Given the description of an element on the screen output the (x, y) to click on. 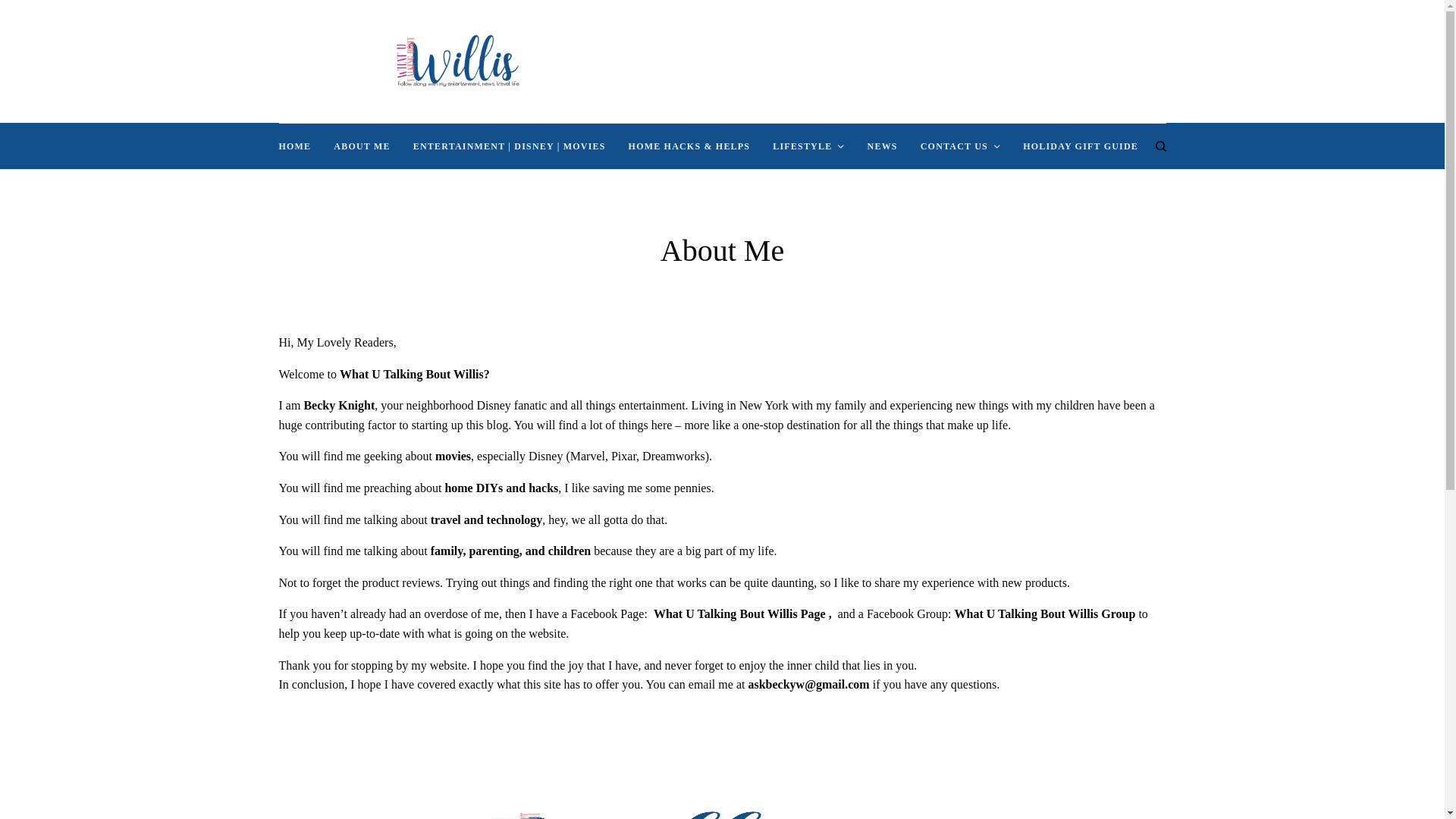
What U Talking Bout Willis (722, 812)
CONTACT US (960, 145)
What U Talking Bout Willis Page (739, 613)
LIFESTYLE (808, 145)
What U Talking Bout Willis Group (1044, 613)
HOLIDAY GIFT GUIDE (1080, 145)
What U Talking Bout Willis (456, 61)
ABOUT ME (361, 145)
